Given the description of an element on the screen output the (x, y) to click on. 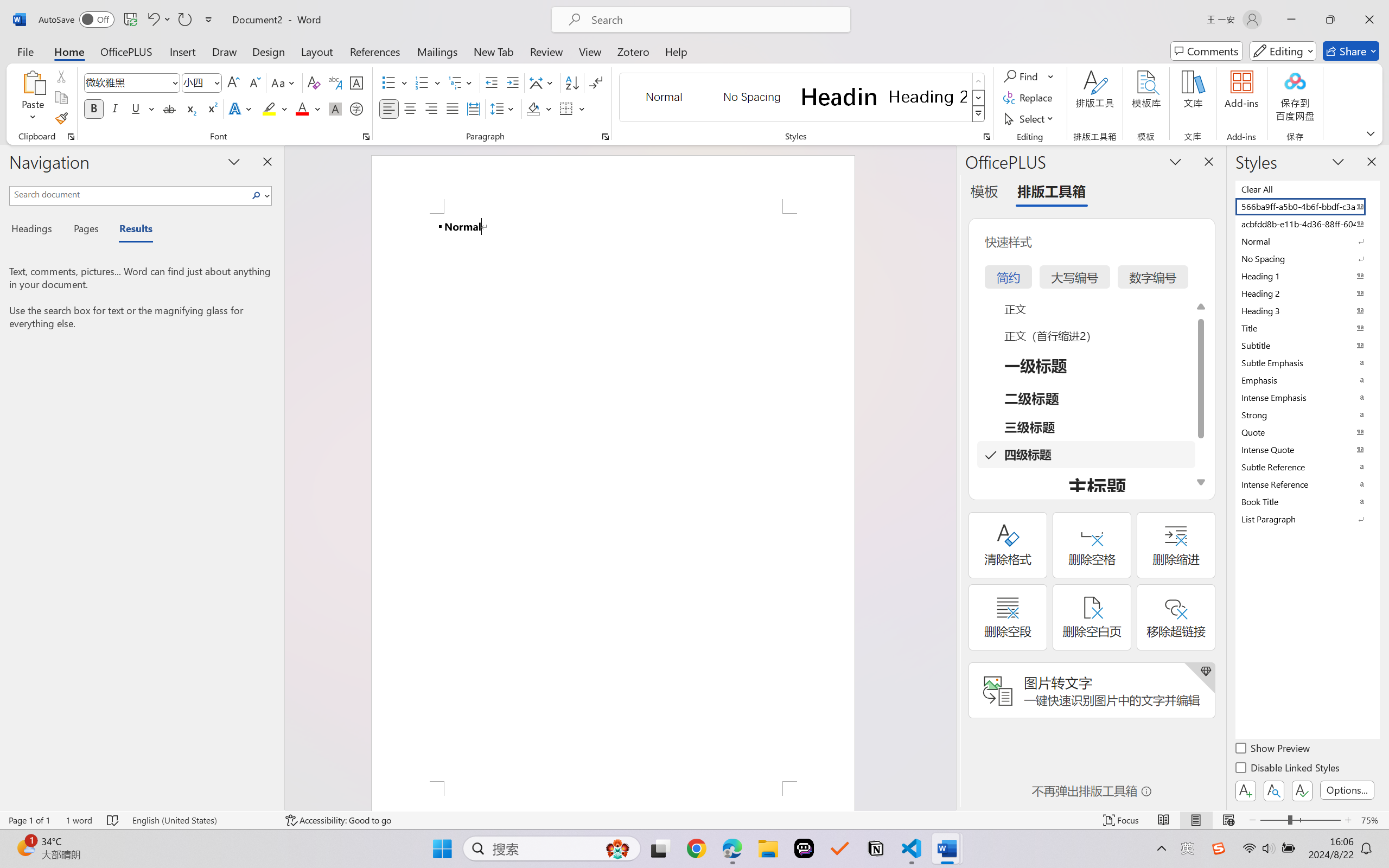
Numbering (421, 82)
No Spacing (1306, 258)
Open (215, 82)
New Tab (493, 51)
Zoom Out (1273, 819)
Word Count 1 word (78, 819)
View (589, 51)
AutomationID: BadgeAnchorLargeTicker (24, 847)
Read Mode (1163, 819)
Zoom In (1348, 819)
Grow Font (233, 82)
566ba9ff-a5b0-4b6f-bbdf-c3ab41993fc2 (1306, 206)
